Given the description of an element on the screen output the (x, y) to click on. 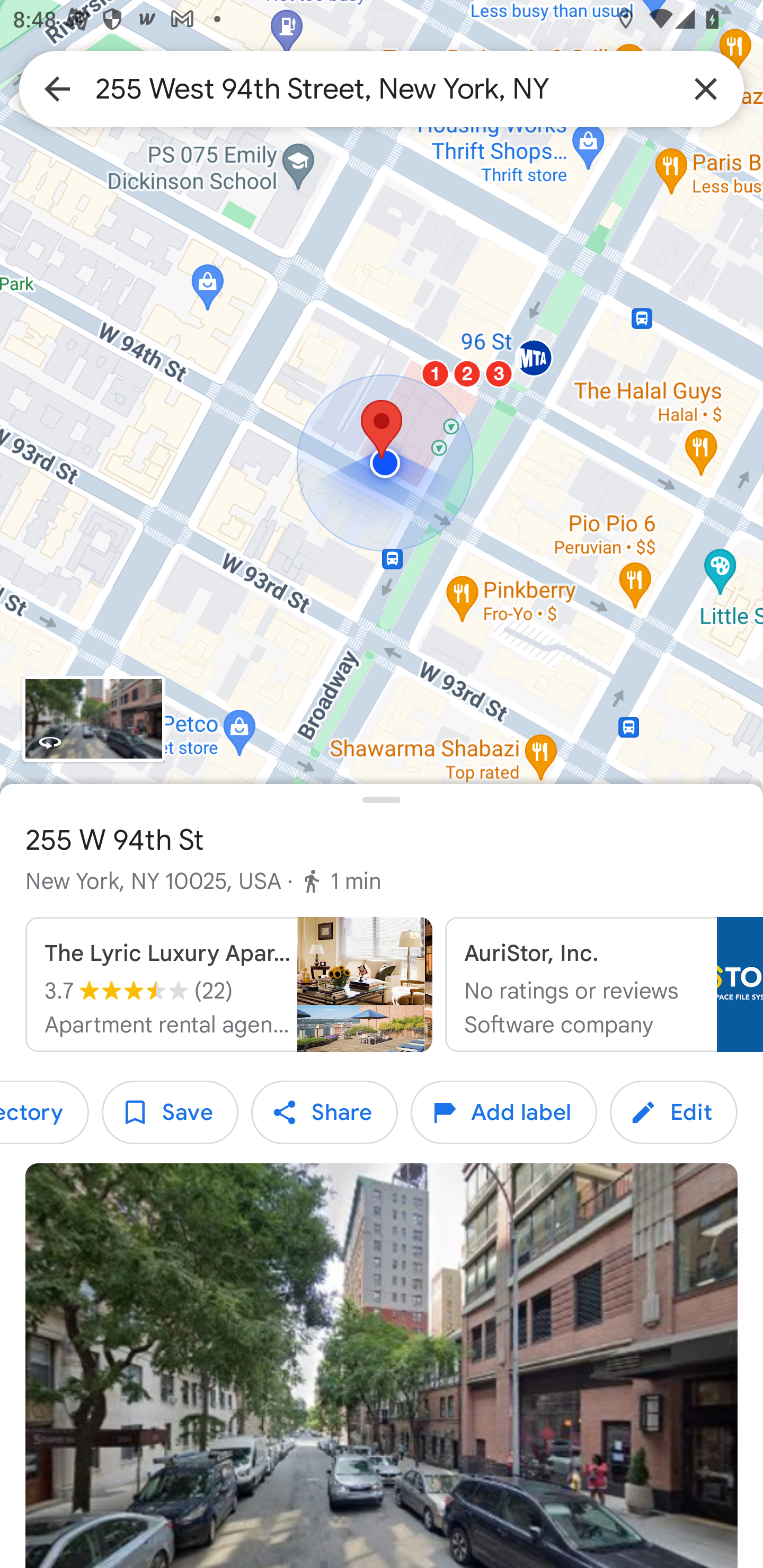
Back (57, 88)
255 West 94th Street, New York, NY (381, 88)
Clear (705, 88)
View Street view imagery for 255 W 94th St (93, 718)
Directory Directory Directory (44, 1112)
Share 255 W 94th St Share Share 255 W 94th St (324, 1112)
Add label (503, 1112)
Edit (673, 1112)
Photo (381, 1365)
